Given the description of an element on the screen output the (x, y) to click on. 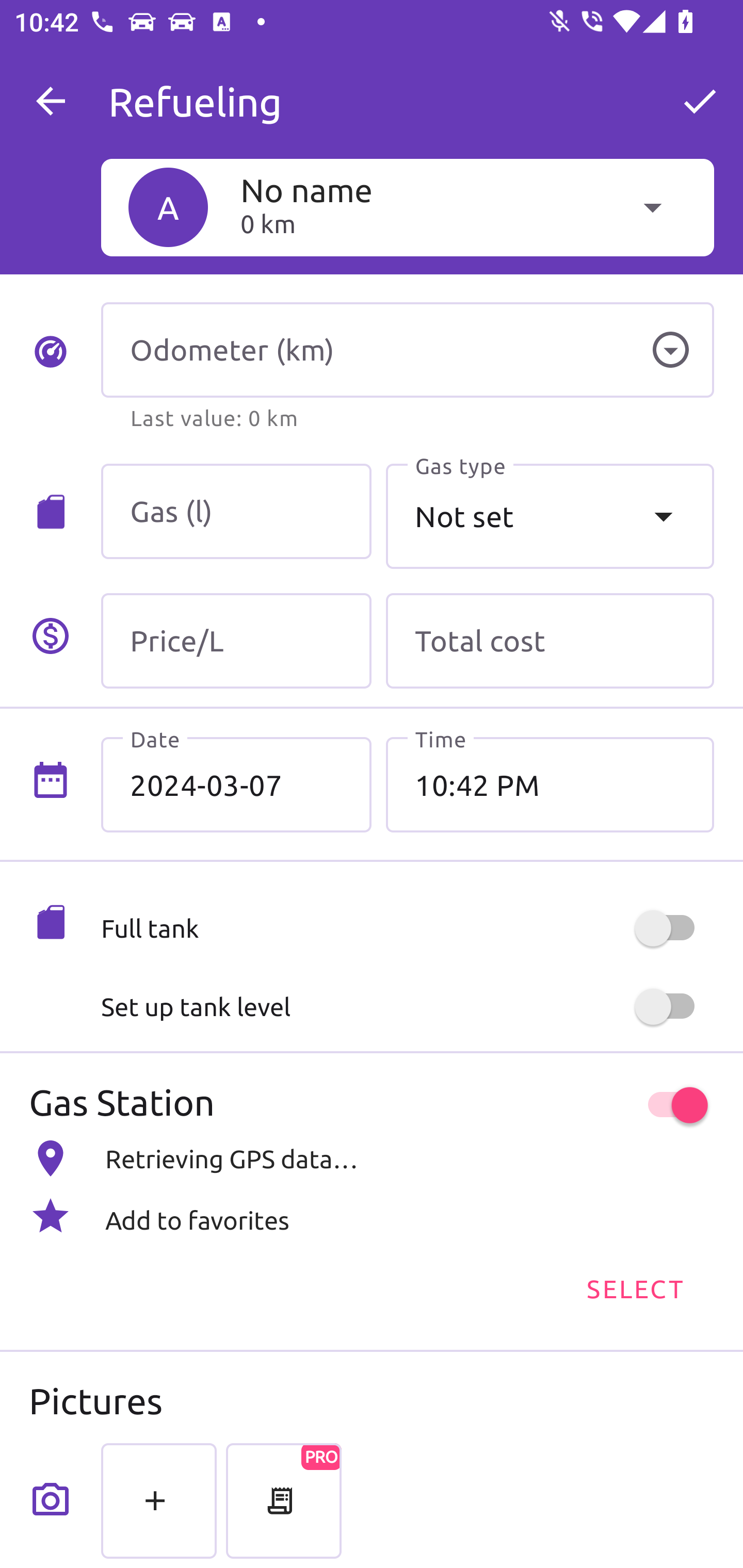
Navigate up (50, 101)
OK (699, 101)
A No name 0 km (407, 206)
Odometer (km) (407, 350)
Odometer (670, 349)
Gas (l) (236, 511)
Not set (549, 516)
Price/L (236, 640)
Total cost  (549, 640)
2024-03-07 (236, 784)
10:42 PM (549, 784)
Full tank (407, 928)
Set up tank level (407, 1006)
Add to favorites (371, 1215)
SELECT (634, 1287)
